Given the description of an element on the screen output the (x, y) to click on. 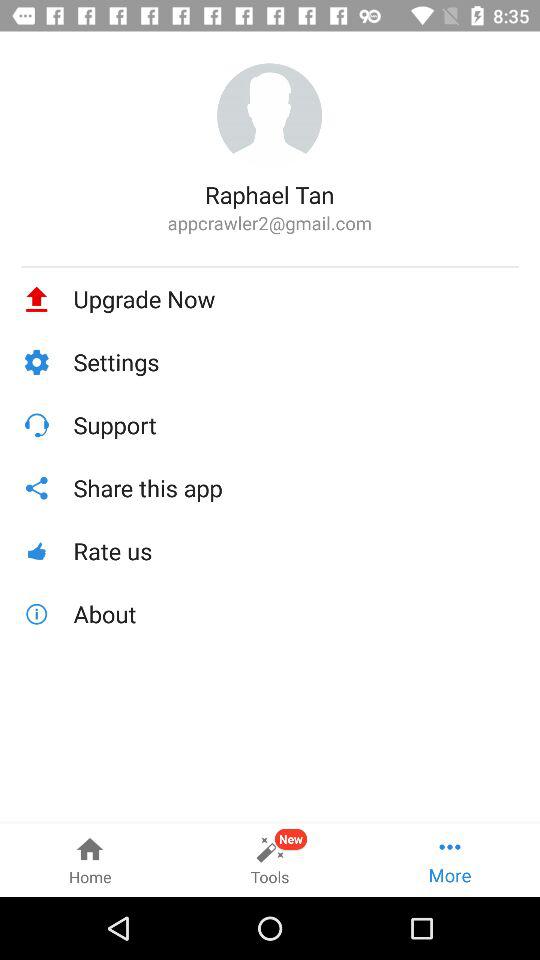
select item above the settings item (296, 299)
